Given the description of an element on the screen output the (x, y) to click on. 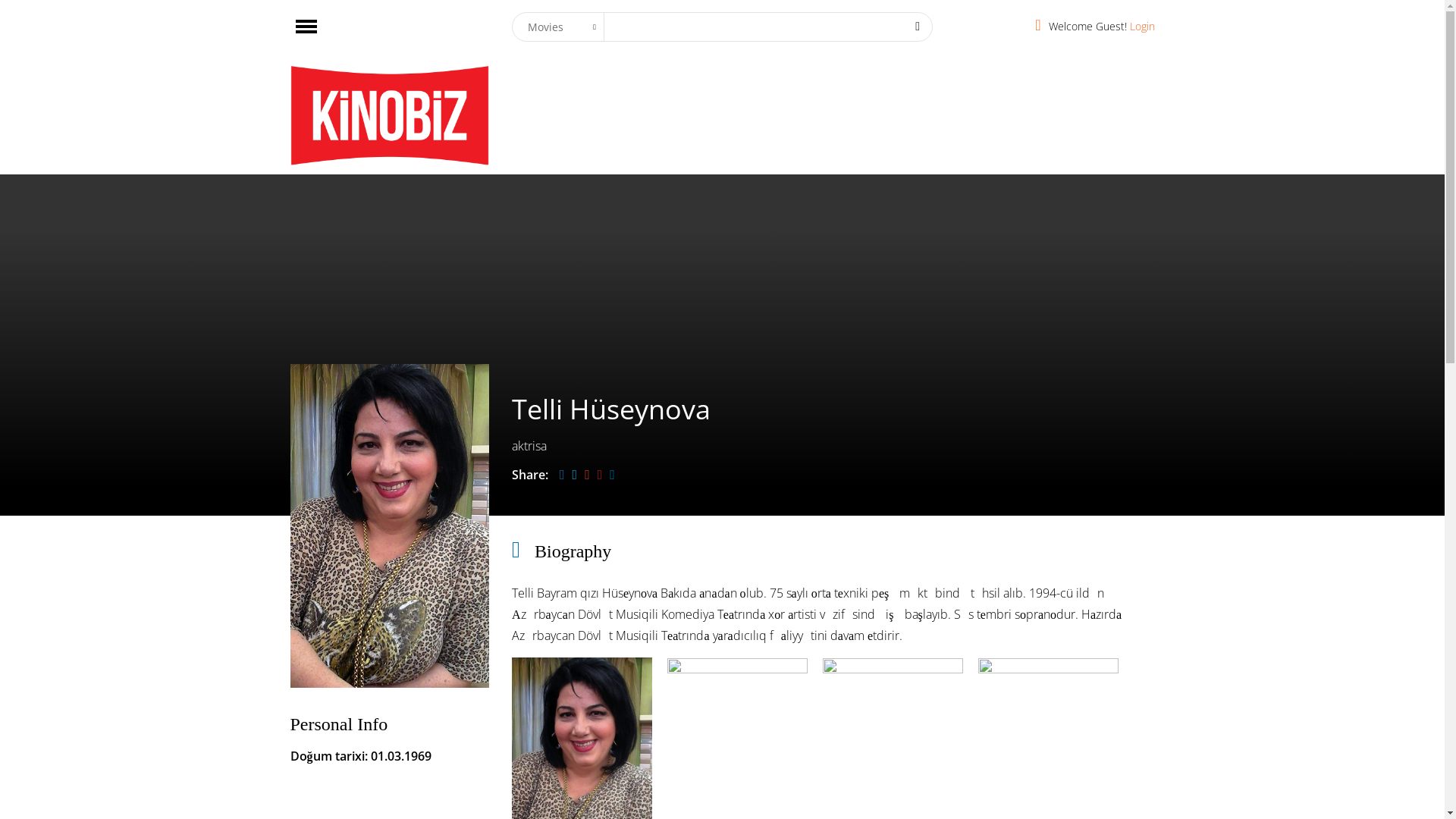
Login Element type: text (1141, 25)
Logo Element type: hover (389, 115)
Open Element type: text (305, 26)
